Given the description of an element on the screen output the (x, y) to click on. 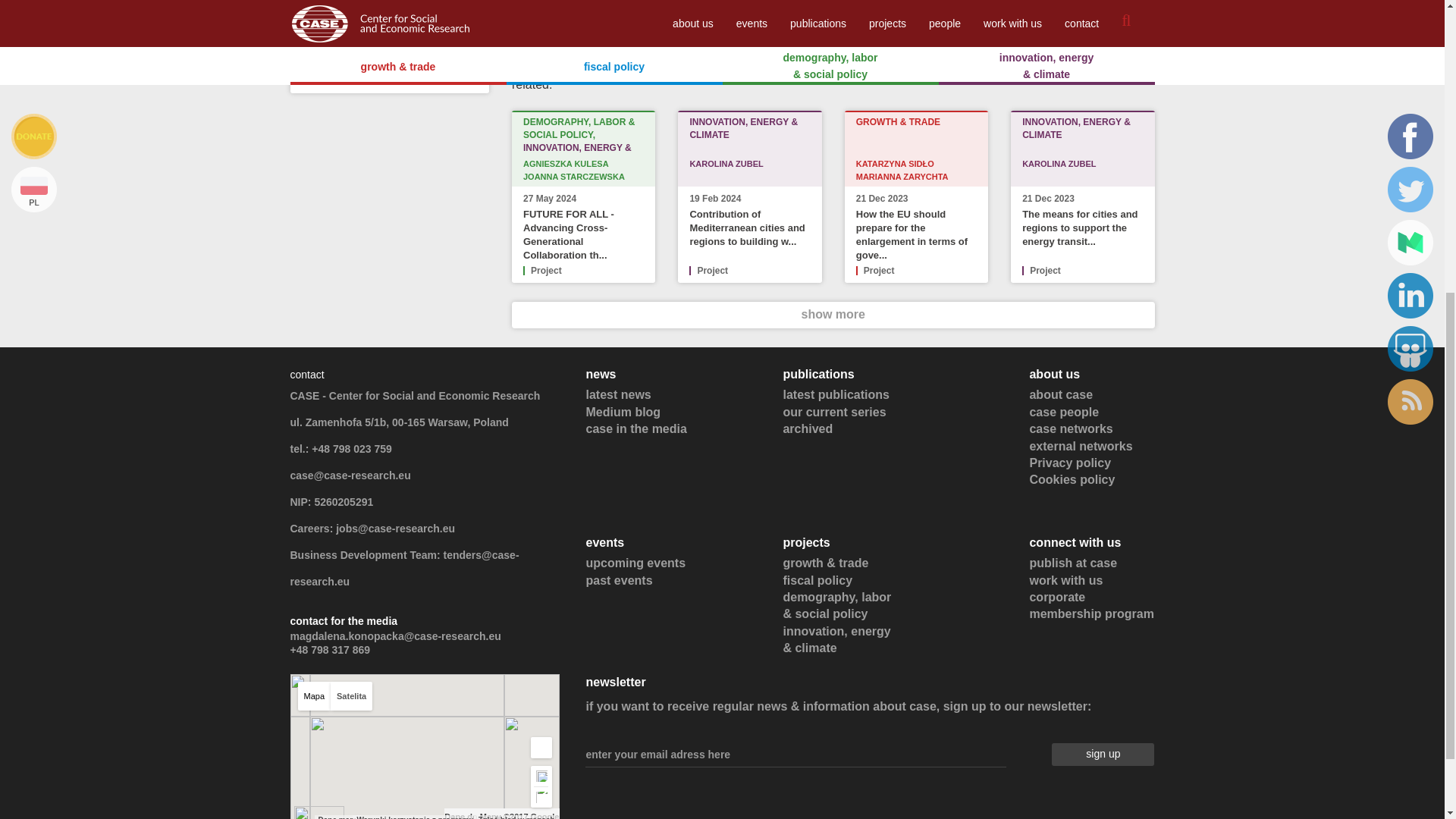
KAROLINA ZUBEL (725, 163)
How the EU should prepare for the enlargement i... (383, 3)
see more (453, 74)
AGNIESZKA KULESA (565, 163)
Tweet (535, 32)
JOANNA STARCZEWSKA (573, 175)
The means for cities and regions to support the... (384, 48)
